Given the description of an element on the screen output the (x, y) to click on. 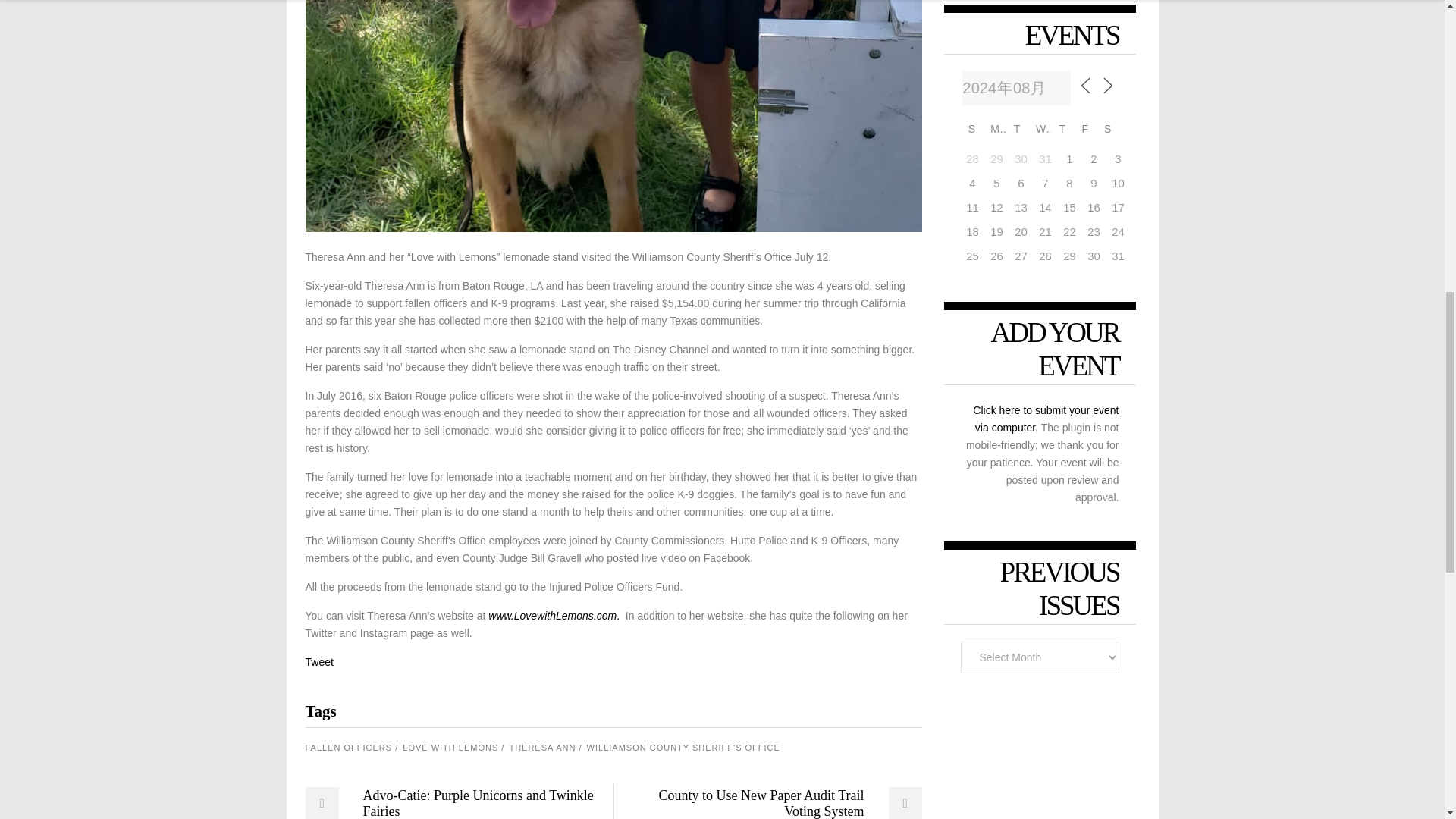
2024-08 (1016, 88)
